Given the description of an element on the screen output the (x, y) to click on. 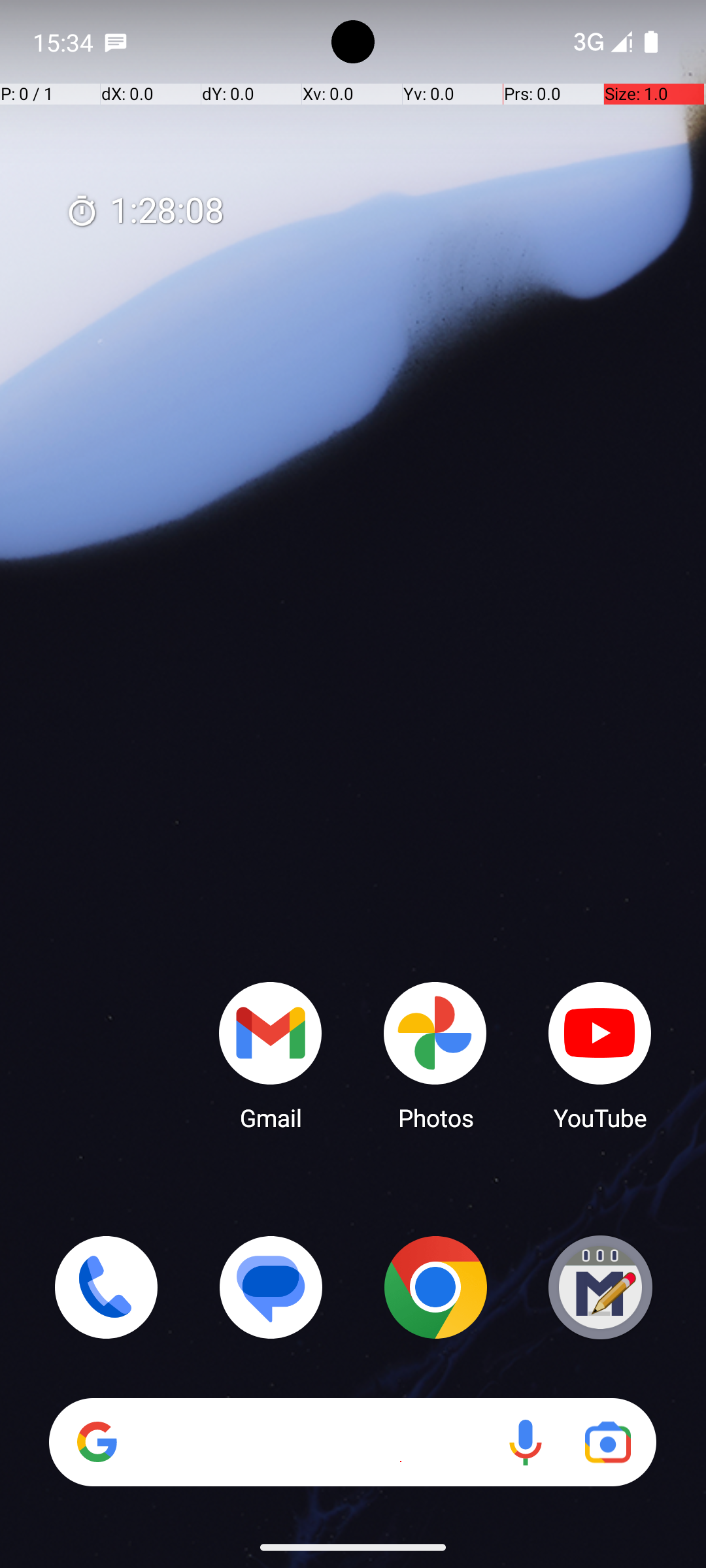
1:28:08 Element type: android.widget.TextView (144, 210)
SMS Messenger notification: +17247648679 Element type: android.widget.ImageView (115, 41)
